Given the description of an element on the screen output the (x, y) to click on. 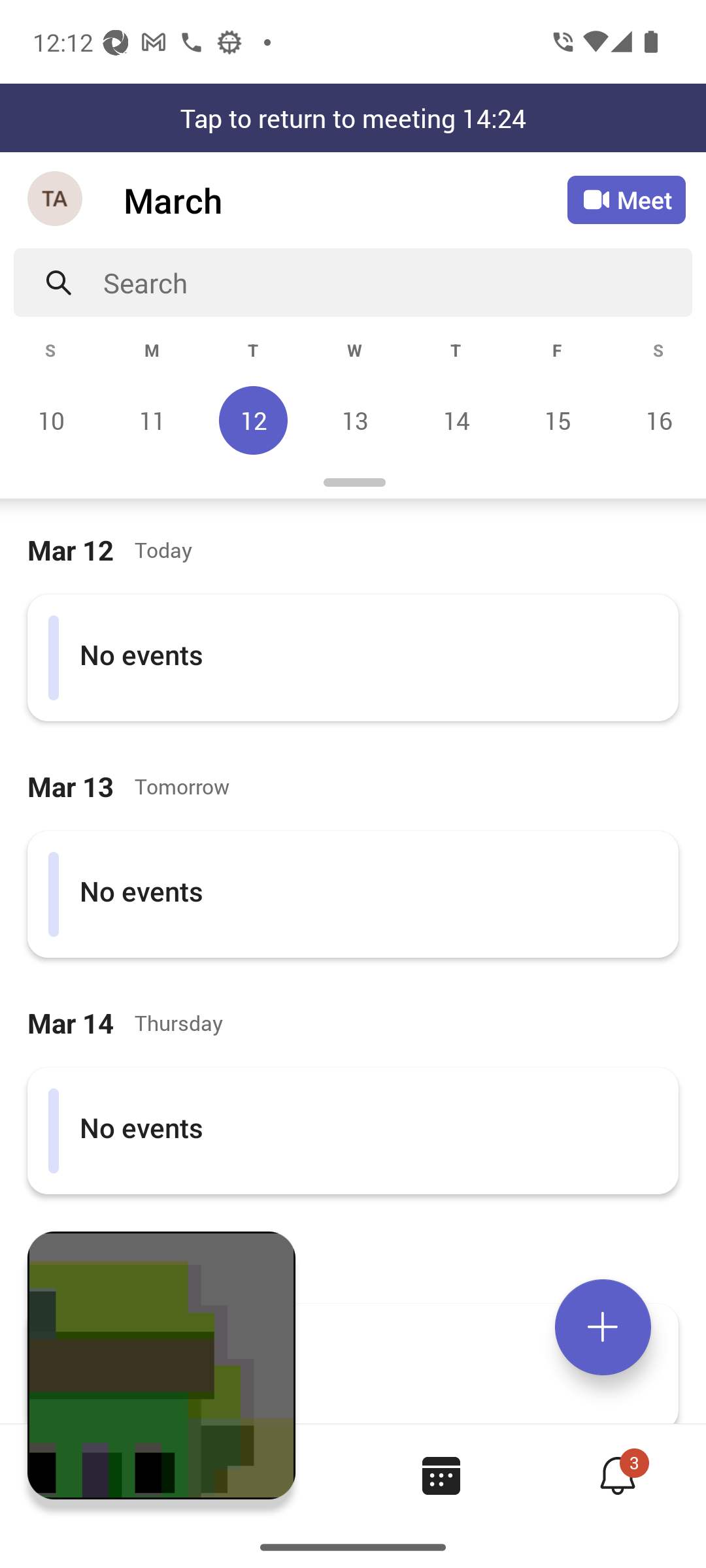
Tap to return to meeting 14:24 (353, 117)
Navigation (56, 199)
Meet Meet now or join with an ID (626, 199)
March March Calendar Agenda View (345, 199)
Search (397, 281)
Sunday, March 10 10 (50, 420)
Monday, March 11 11 (151, 420)
Tuesday, March 12, Today, Selected 12 (253, 420)
Wednesday, March 13 13 (354, 420)
Thursday, March 14 14 (455, 420)
Friday, March 15 15 (556, 420)
Saturday, March 16 16 (656, 420)
Expand meetings menu (602, 1327)
Calendar tab, 3 of 4 (441, 1475)
Activity tab,4 of 4, not selected, 3 new 3 (617, 1475)
